Given the description of an element on the screen output the (x, y) to click on. 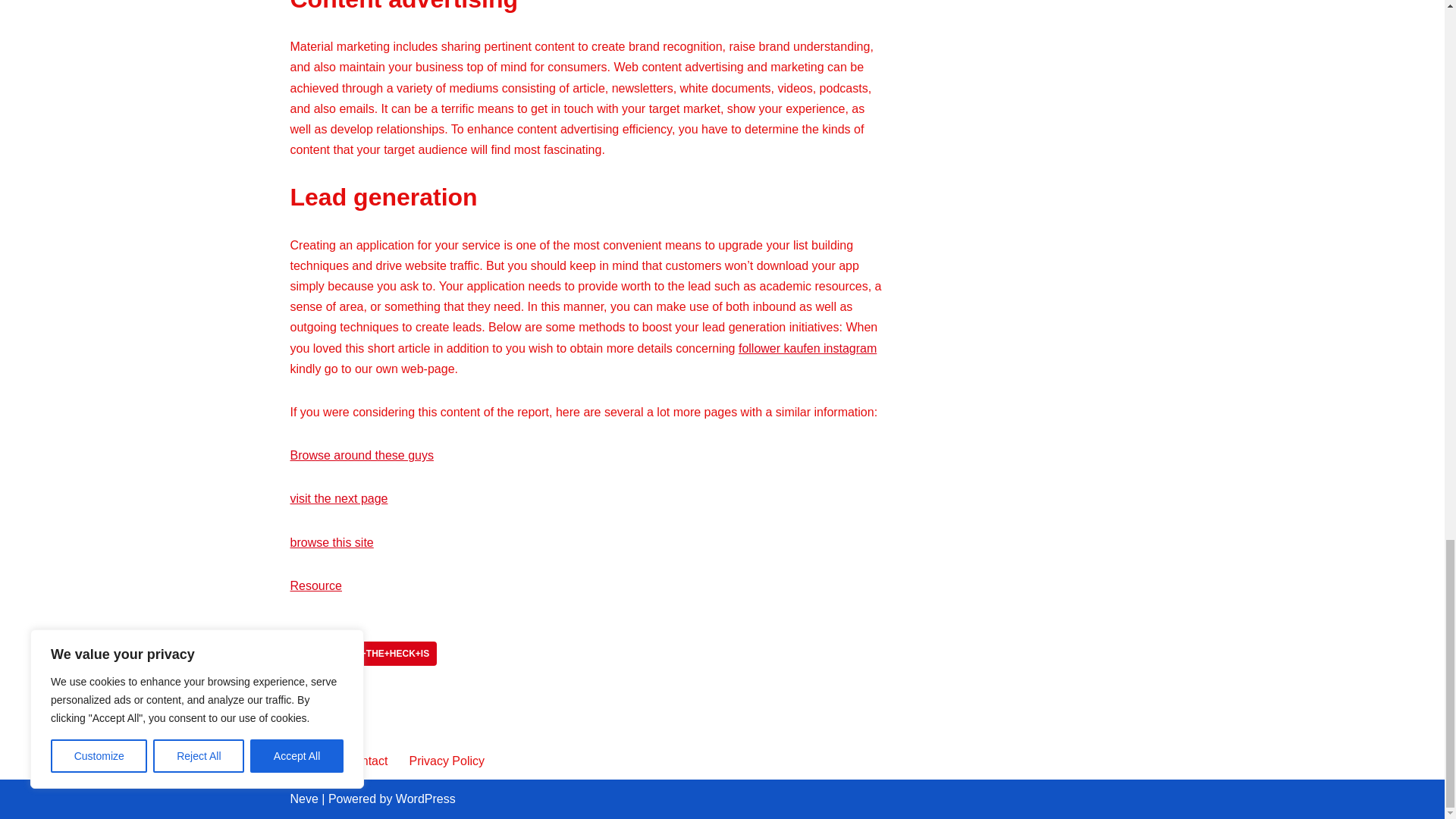
browse this site (330, 542)
visit the next page (338, 498)
Resource (314, 585)
Browse around these guys (360, 454)
follower kaufen instagram (807, 348)
